Given the description of an element on the screen output the (x, y) to click on. 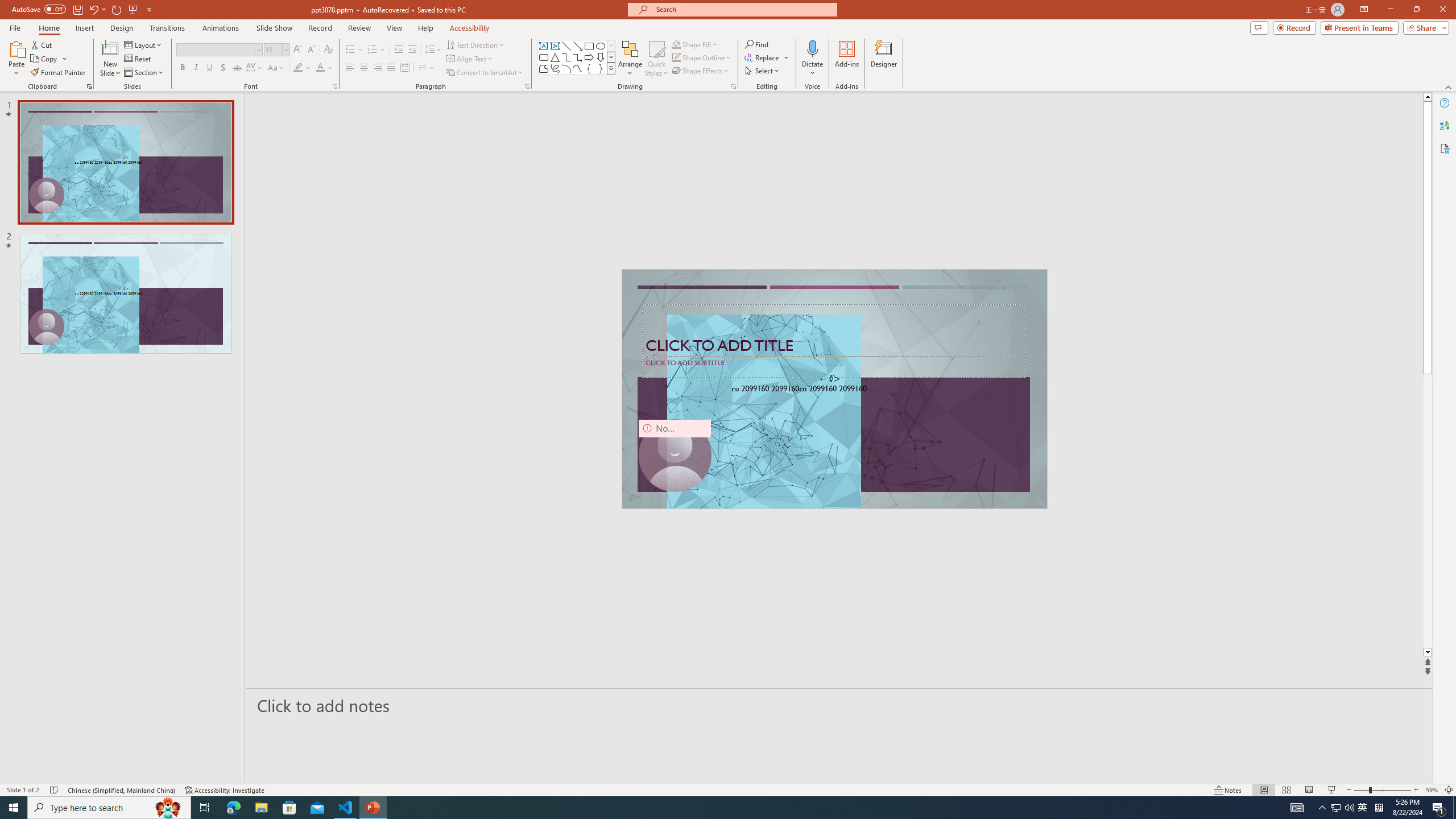
Character Spacing (254, 67)
Align Right (377, 67)
Strikethrough (237, 67)
Title TextBox (834, 330)
Decrease Indent (398, 49)
Shape Fill (694, 44)
